Given the description of an element on the screen output the (x, y) to click on. 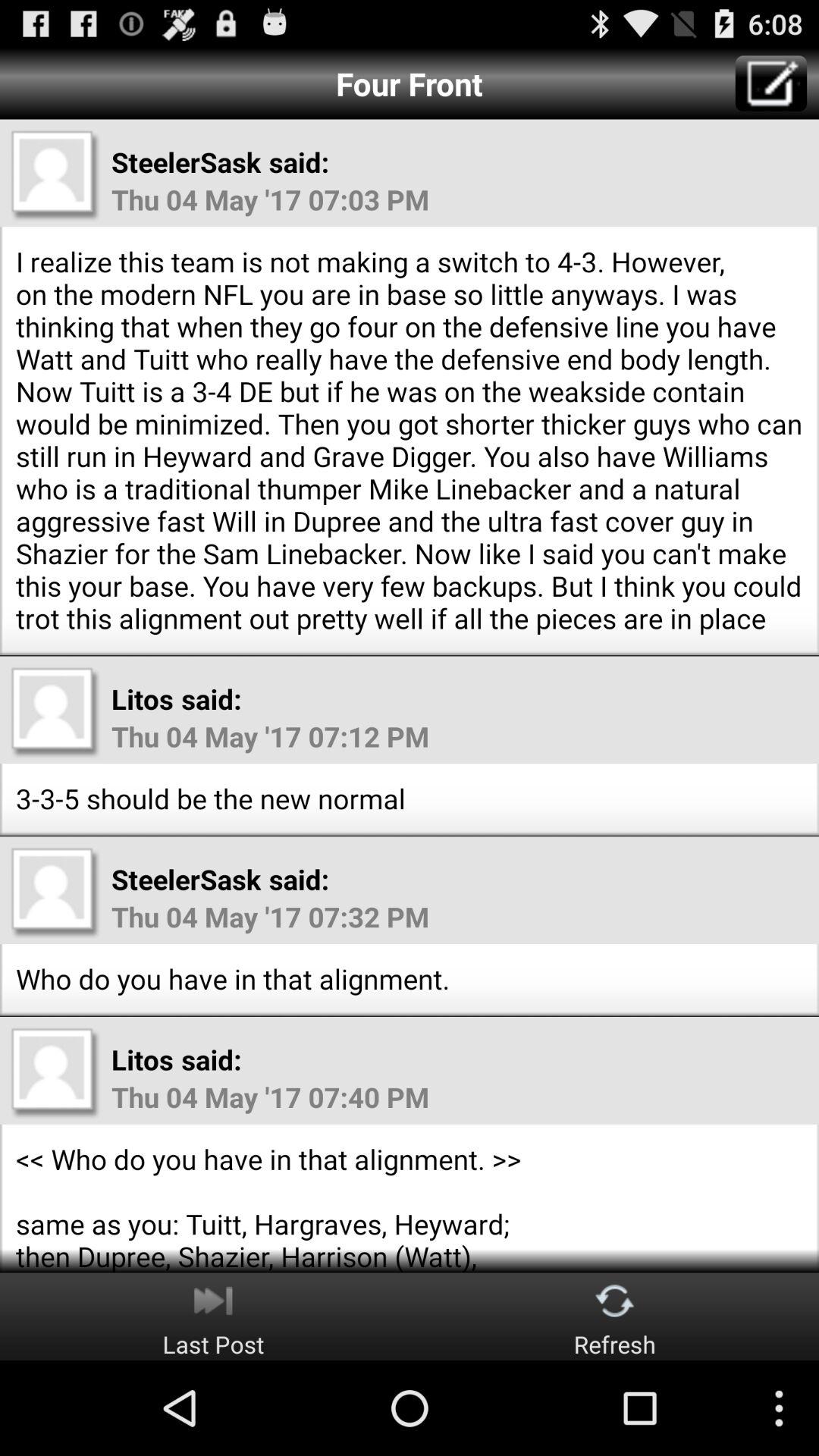
enter post (771, 83)
